Given the description of an element on the screen output the (x, y) to click on. 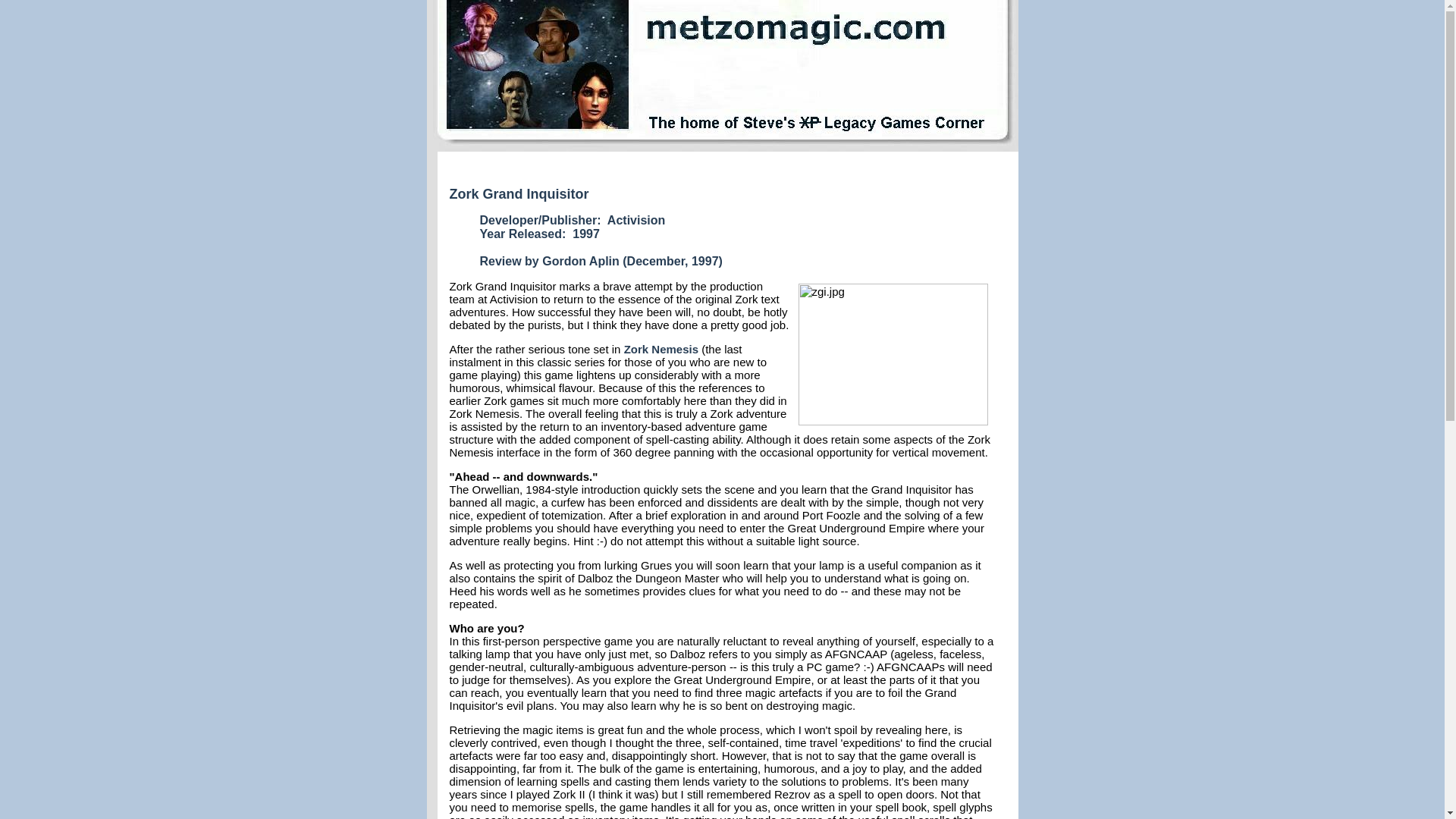
Zork Nemesis (661, 349)
